Given the description of an element on the screen output the (x, y) to click on. 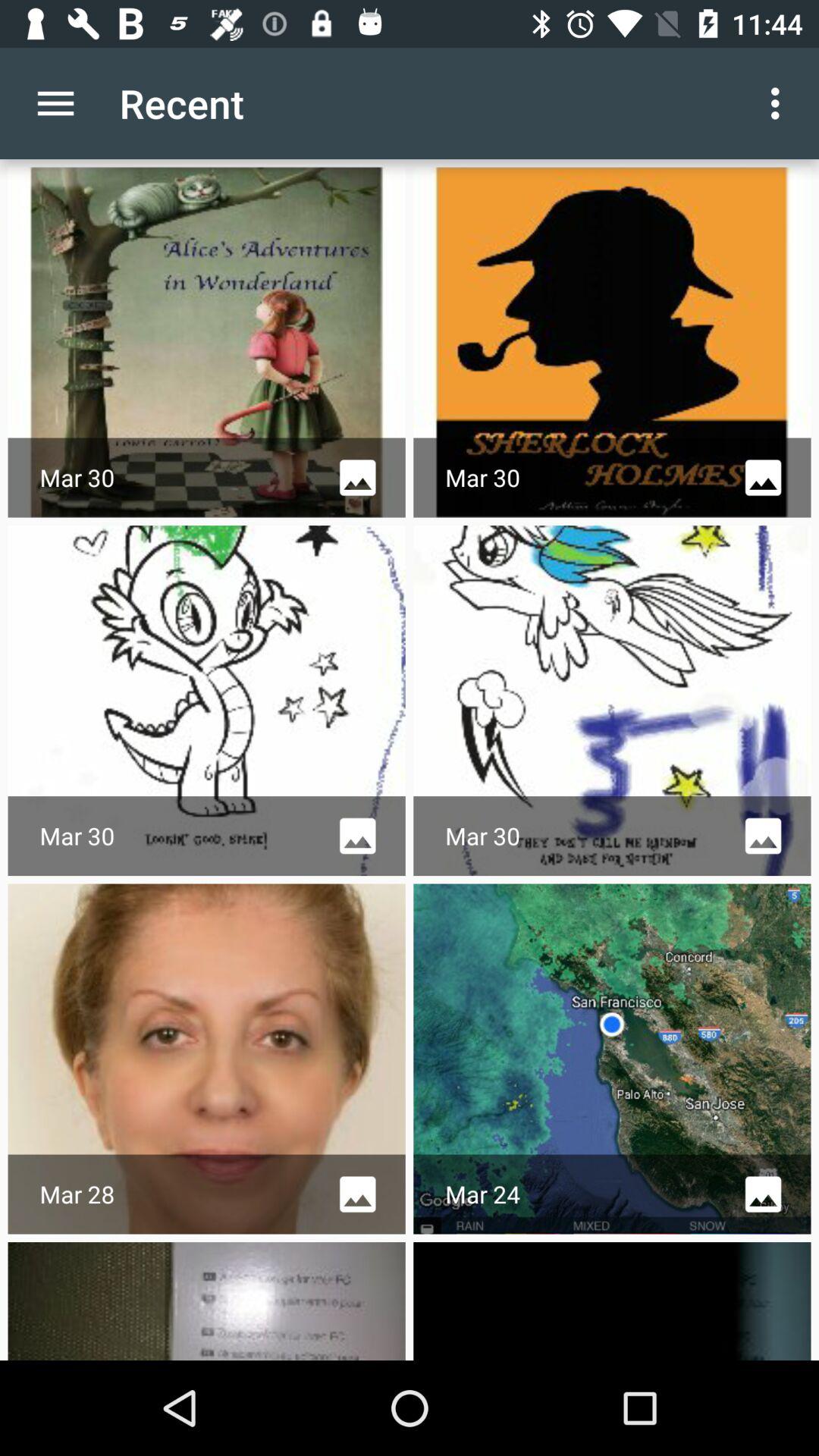
open icon to the left of recent app (55, 103)
